Given the description of an element on the screen output the (x, y) to click on. 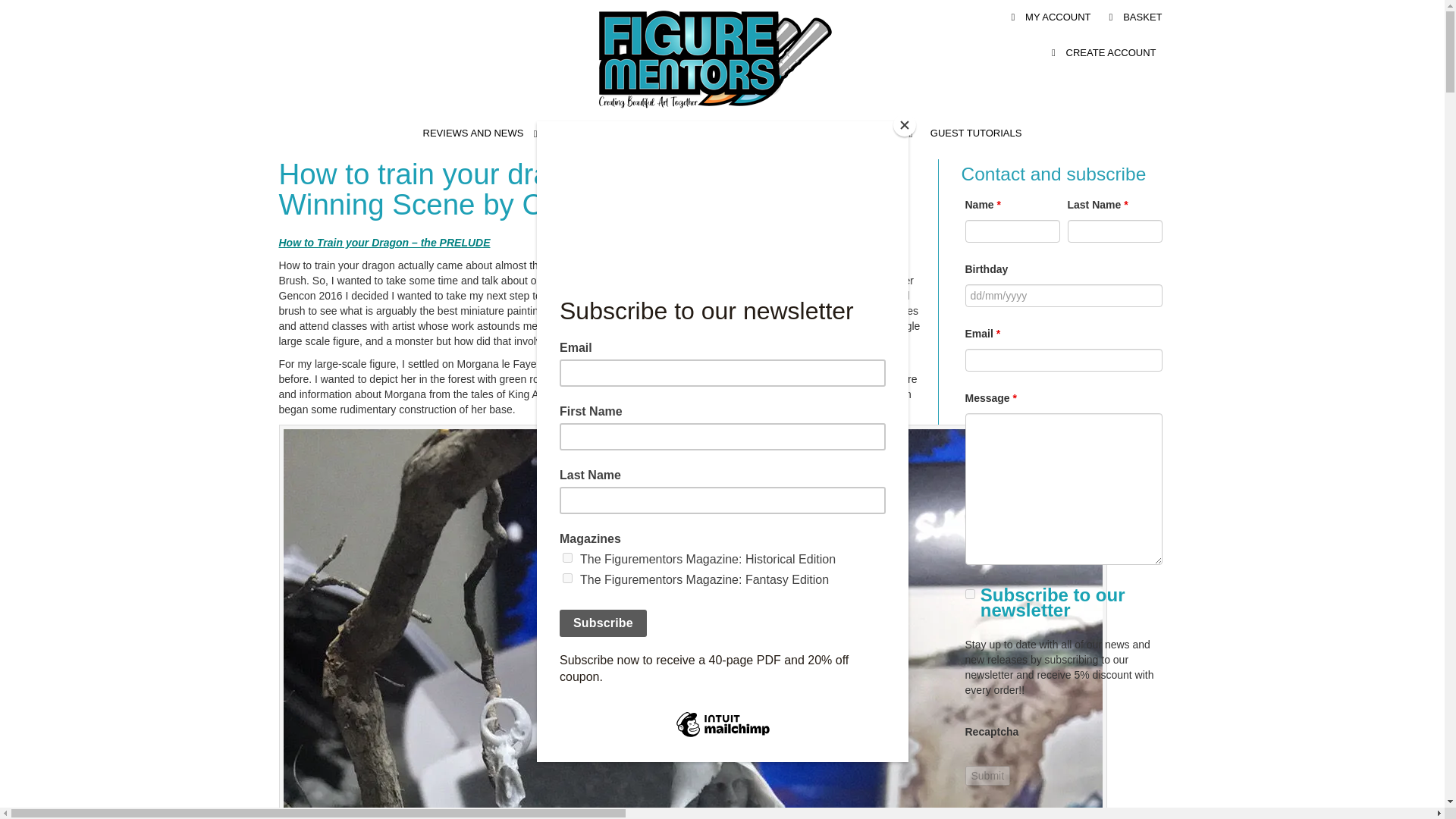
BASKET (1133, 18)
MY ACCOUNT (1047, 18)
GUEST TUTORIALS (976, 133)
TEAM TUTORIALS (767, 133)
Submit (986, 775)
SHOP (574, 133)
CREATE ACCOUNT (1101, 53)
REVIEWS AND NEWS (478, 133)
UNMISSABLE ART (655, 133)
1 (1025, 35)
